Given the description of an element on the screen output the (x, y) to click on. 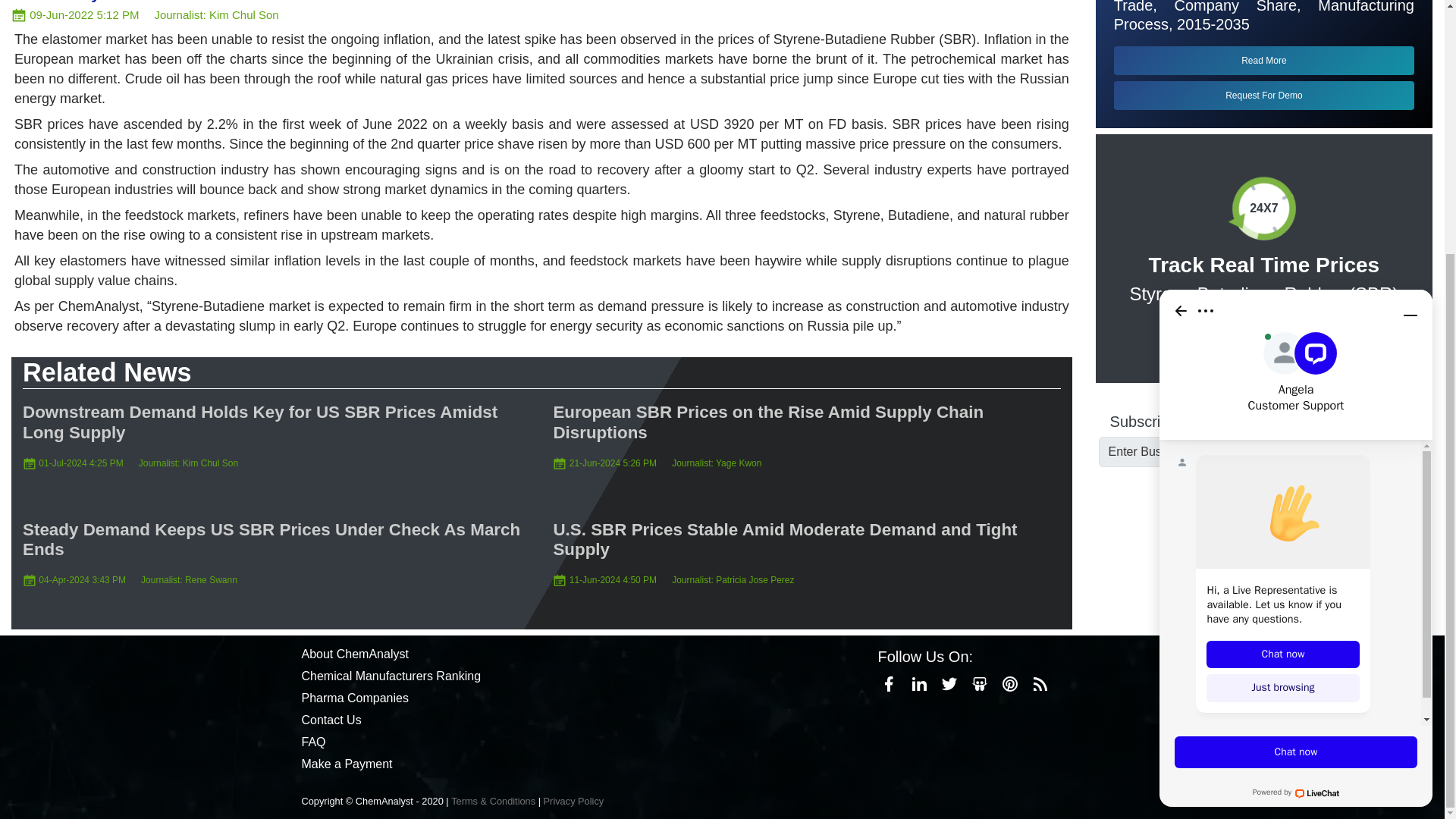
Submit (1296, 451)
